Given the description of an element on the screen output the (x, y) to click on. 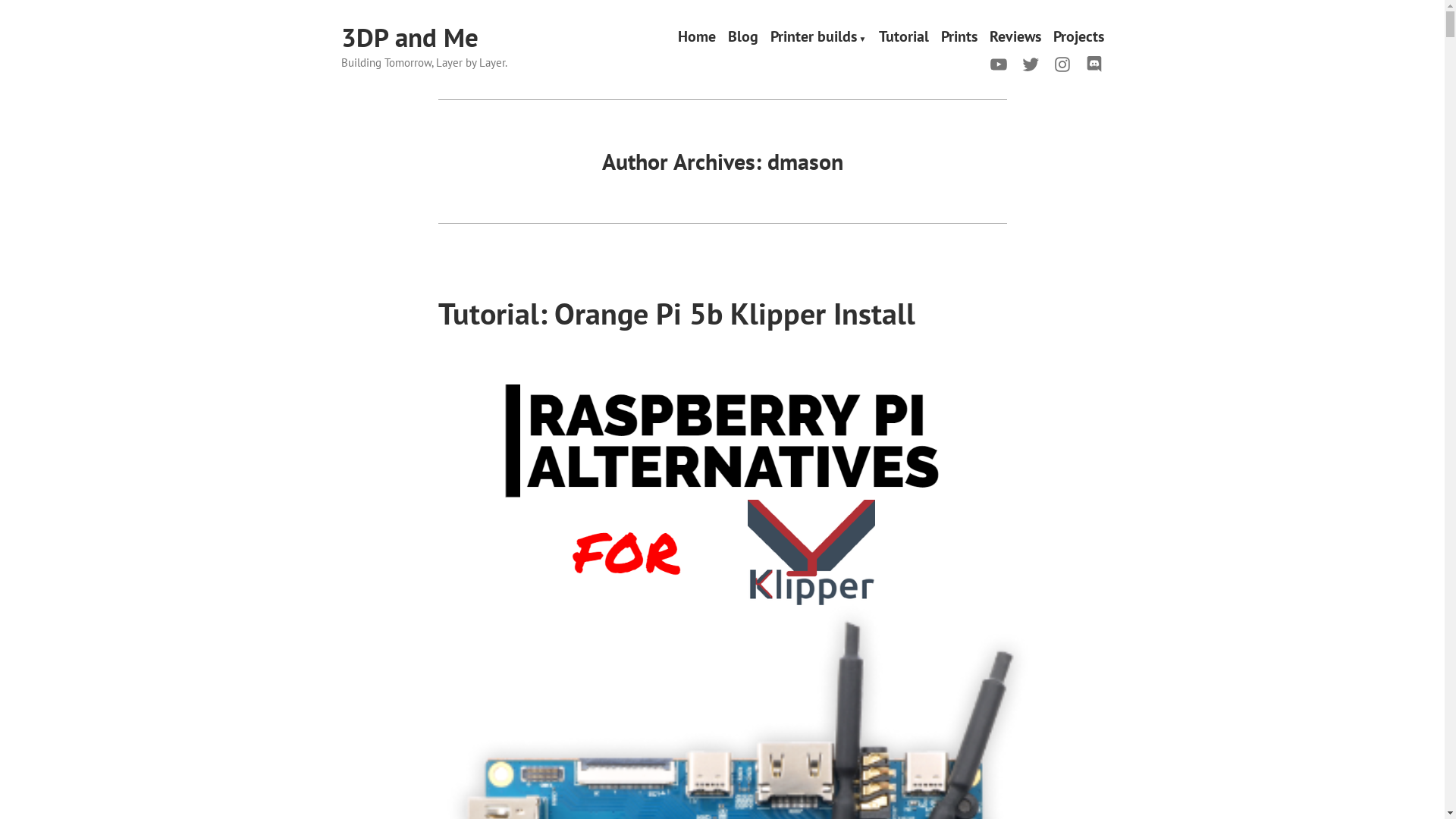
Tutorial Element type: text (903, 37)
Projects Element type: text (1077, 37)
Home Element type: text (696, 37)
Tutorial: Orange Pi 5b Klipper Install Element type: text (676, 312)
3DP and Me Element type: text (409, 36)
Printer builds Element type: text (818, 37)
Prints Element type: text (958, 37)
Blog Element type: text (743, 37)
Reviews Element type: text (1014, 37)
